Given the description of an element on the screen output the (x, y) to click on. 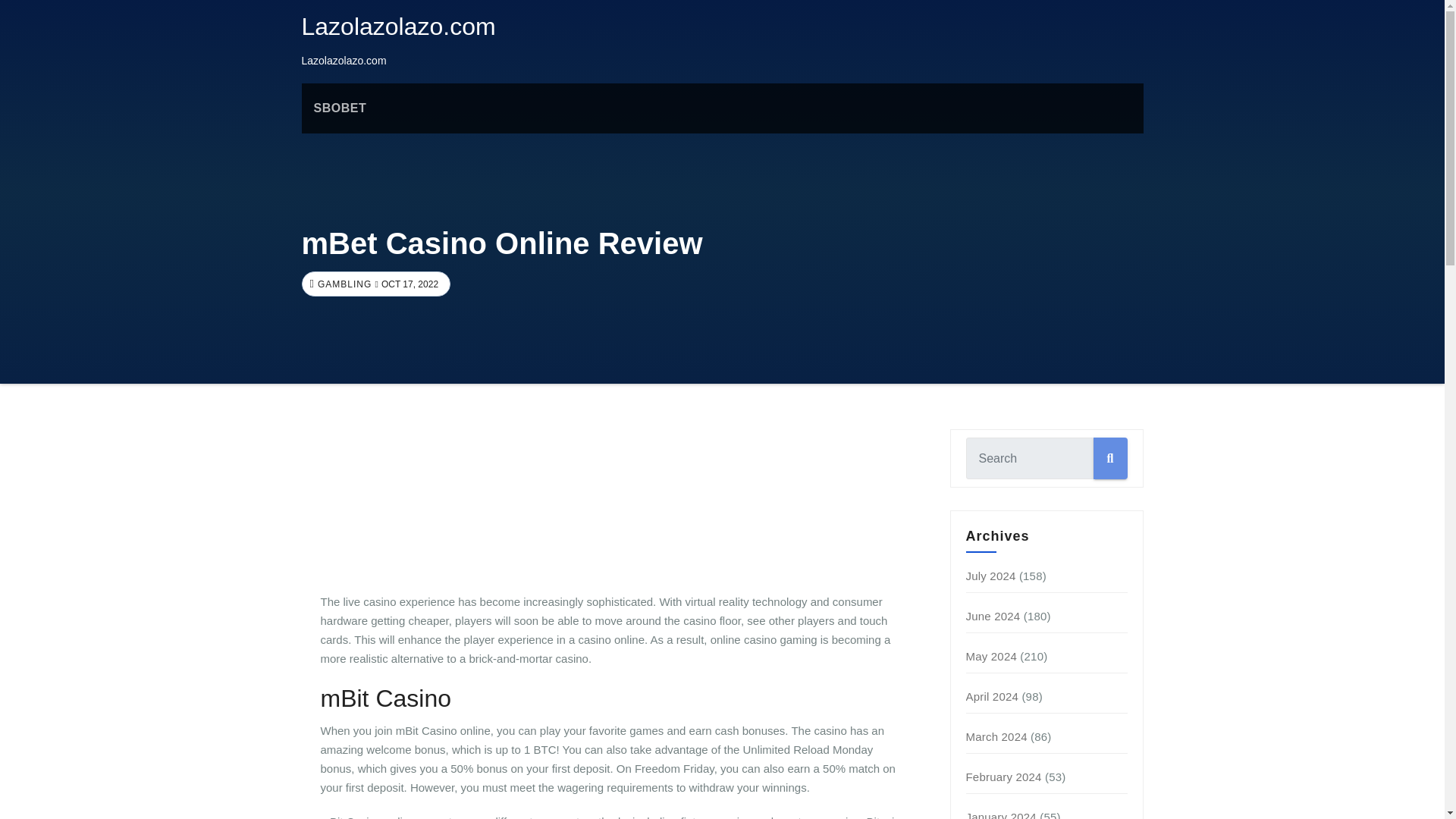
July 2024 (991, 575)
SBOBET (339, 108)
January 2024 (1001, 814)
June 2024 (993, 615)
April 2024 (992, 696)
May 2024 (991, 656)
Lazolazolazo.com (398, 26)
February 2024 (1004, 776)
SBOBET (339, 108)
March 2024 (996, 736)
GAMBLING (342, 284)
